Given the description of an element on the screen output the (x, y) to click on. 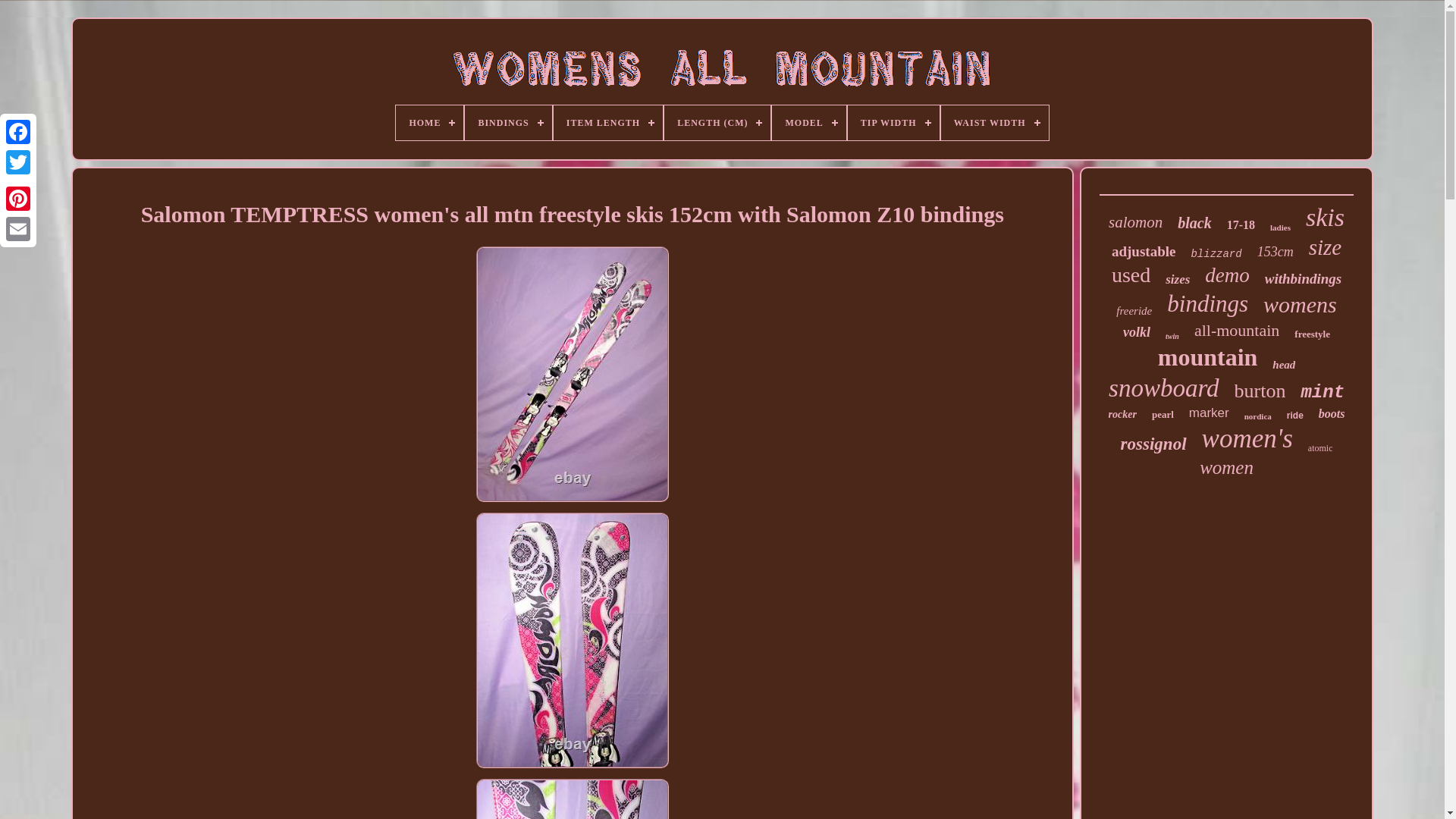
ITEM LENGTH (607, 122)
BINDINGS (507, 122)
HOME (429, 122)
